Given the description of an element on the screen output the (x, y) to click on. 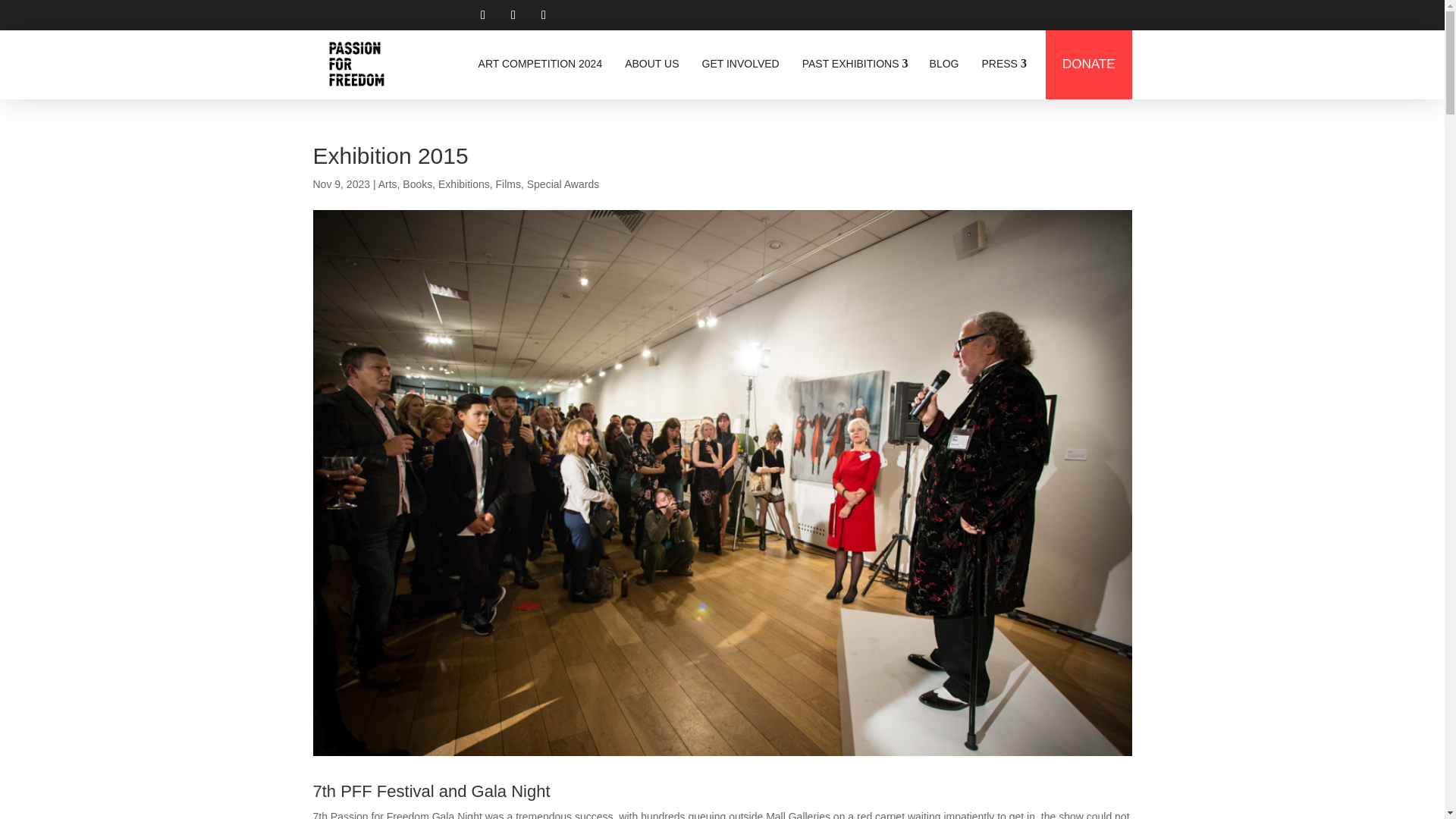
PAST EXHIBITIONS (854, 63)
Follow on Instagram (543, 15)
Follow on Facebook (482, 15)
DONATE (1088, 64)
PRESS (1002, 63)
ART COMPETITION 2024 (540, 63)
Follow on X (512, 15)
GET INVOLVED (740, 63)
ABOUT US (651, 63)
